Given the description of an element on the screen output the (x, y) to click on. 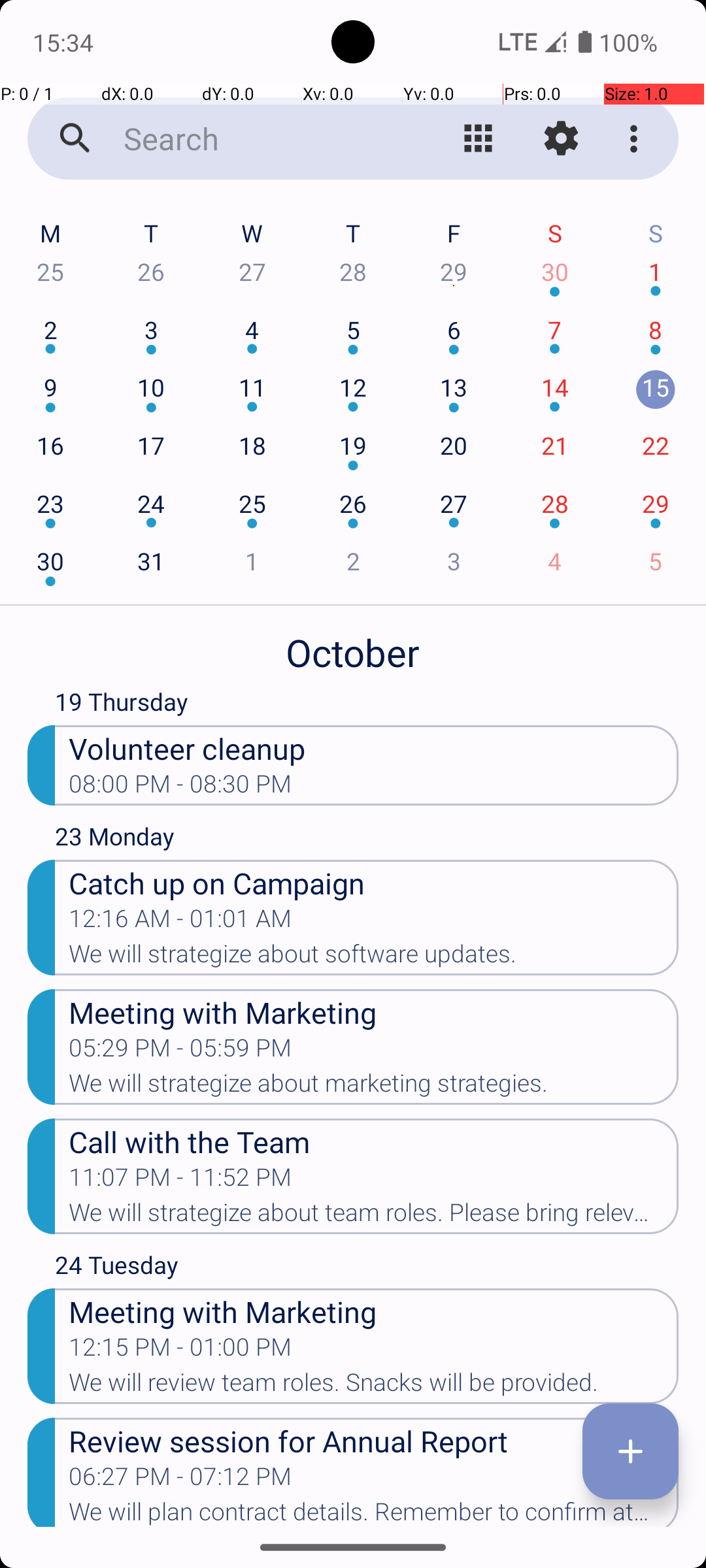
24 Tuesday Element type: android.widget.TextView (366, 1267)
Volunteer cleanup Element type: android.widget.TextView (373, 747)
08:00 PM - 08:30 PM Element type: android.widget.TextView (179, 787)
12:16 AM - 01:01 AM Element type: android.widget.TextView (179, 922)
We will strategize about software updates. Element type: android.widget.TextView (373, 957)
05:29 PM - 05:59 PM Element type: android.widget.TextView (179, 1051)
We will strategize about marketing strategies. Element type: android.widget.TextView (373, 1086)
11:07 PM - 11:52 PM Element type: android.widget.TextView (179, 1180)
We will strategize about team roles. Please bring relevant documents. Element type: android.widget.TextView (373, 1216)
12:15 PM - 01:00 PM Element type: android.widget.TextView (179, 1350)
We will review team roles. Snacks will be provided. Element type: android.widget.TextView (373, 1386)
06:27 PM - 07:12 PM Element type: android.widget.TextView (179, 1480)
We will plan contract details. Remember to confirm attendance. Element type: android.widget.TextView (373, 1512)
